Given the description of an element on the screen output the (x, y) to click on. 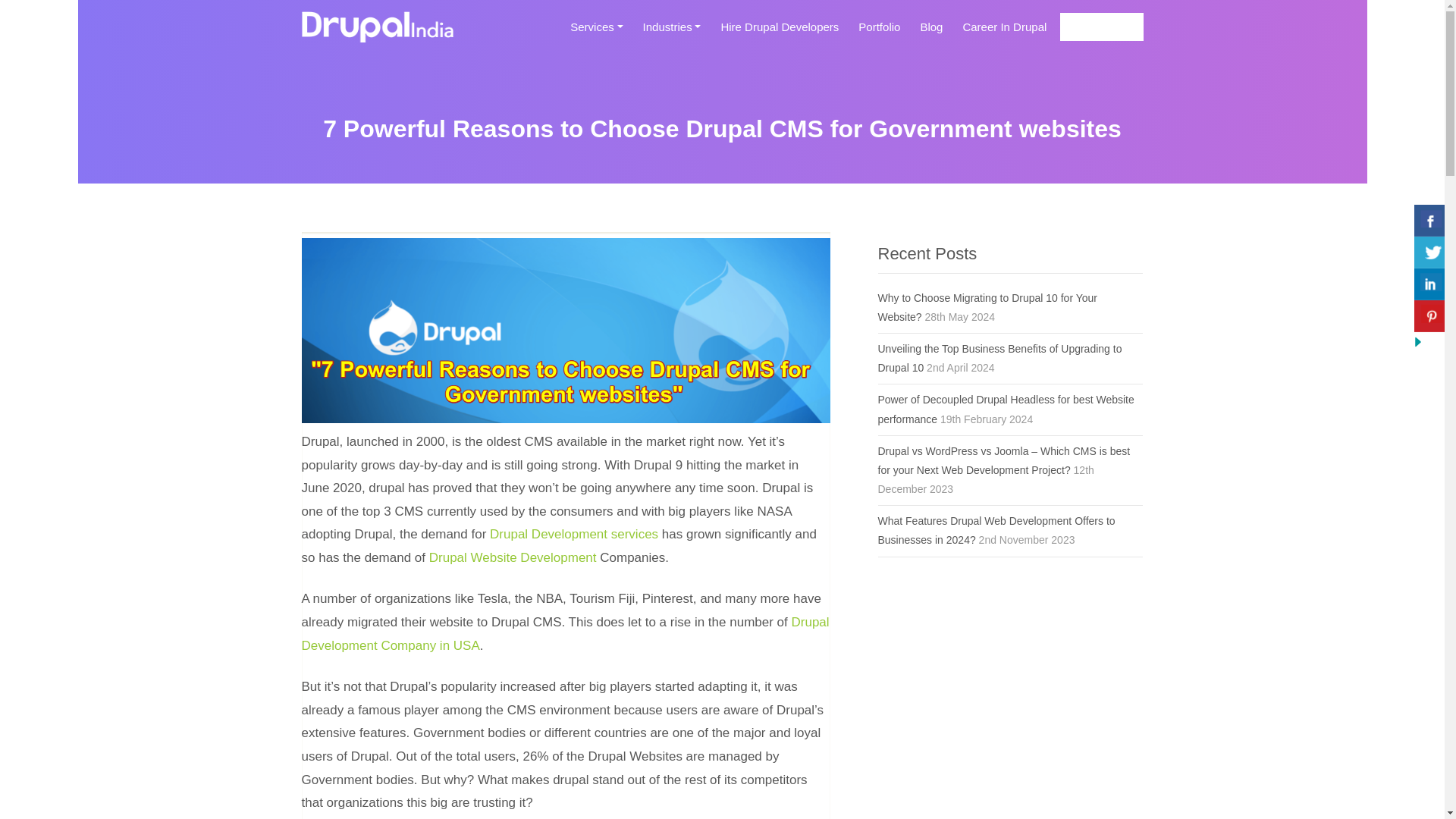
Contact Us (1100, 26)
Drupal Development Company in USA (565, 633)
Drupal Development services (573, 534)
Drupal Website Development (512, 557)
Industries (672, 32)
Career In Drupal (1004, 32)
Hire Drupal Developers (779, 32)
Portfolio (878, 32)
Services (596, 32)
